Given the description of an element on the screen output the (x, y) to click on. 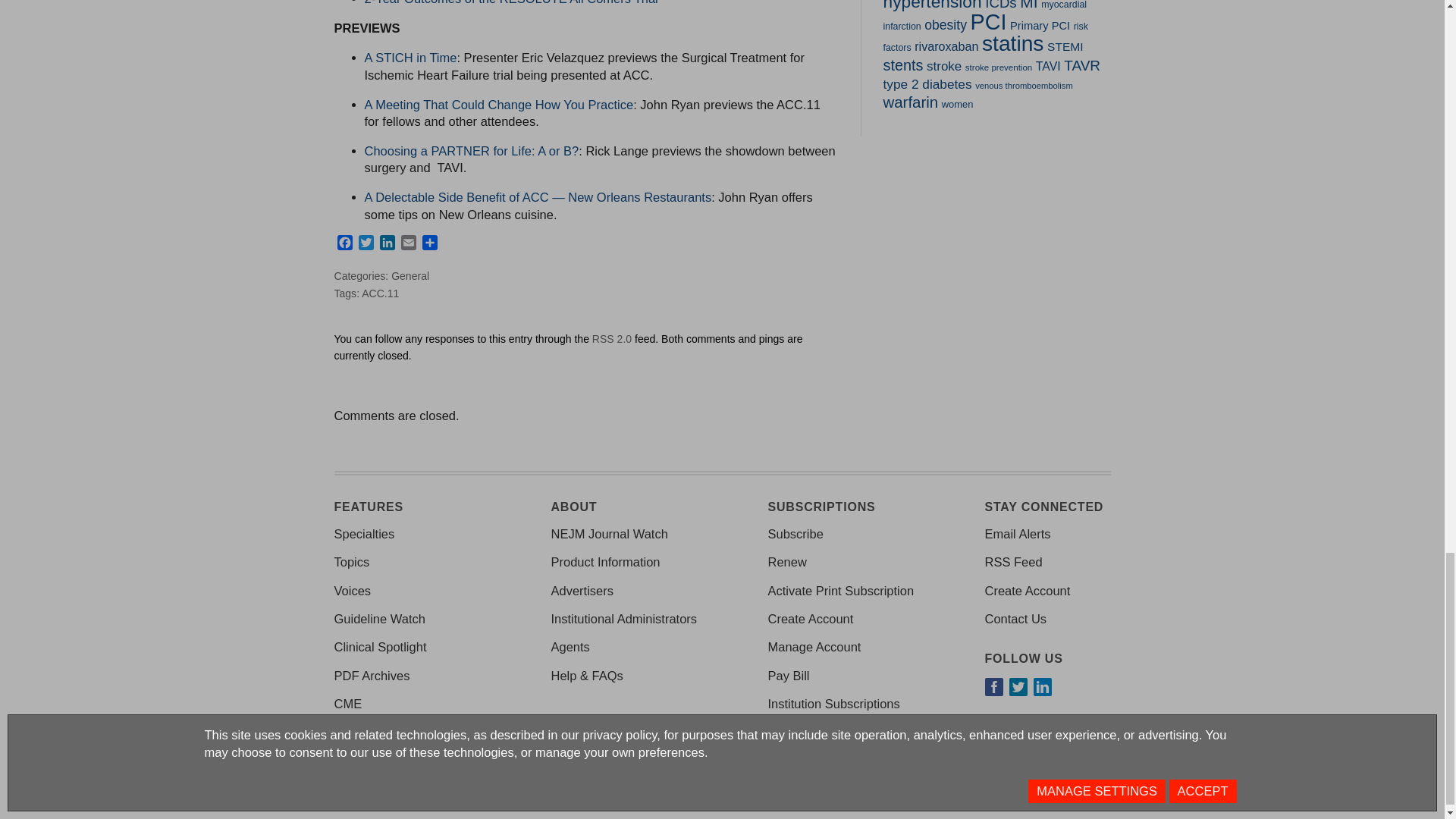
Email (408, 245)
LinkedIn (386, 245)
Facebook (344, 245)
Twitter (365, 245)
Permanent Link to Choosing a PARTNER for Life: A or B? (471, 151)
